Given the description of an element on the screen output the (x, y) to click on. 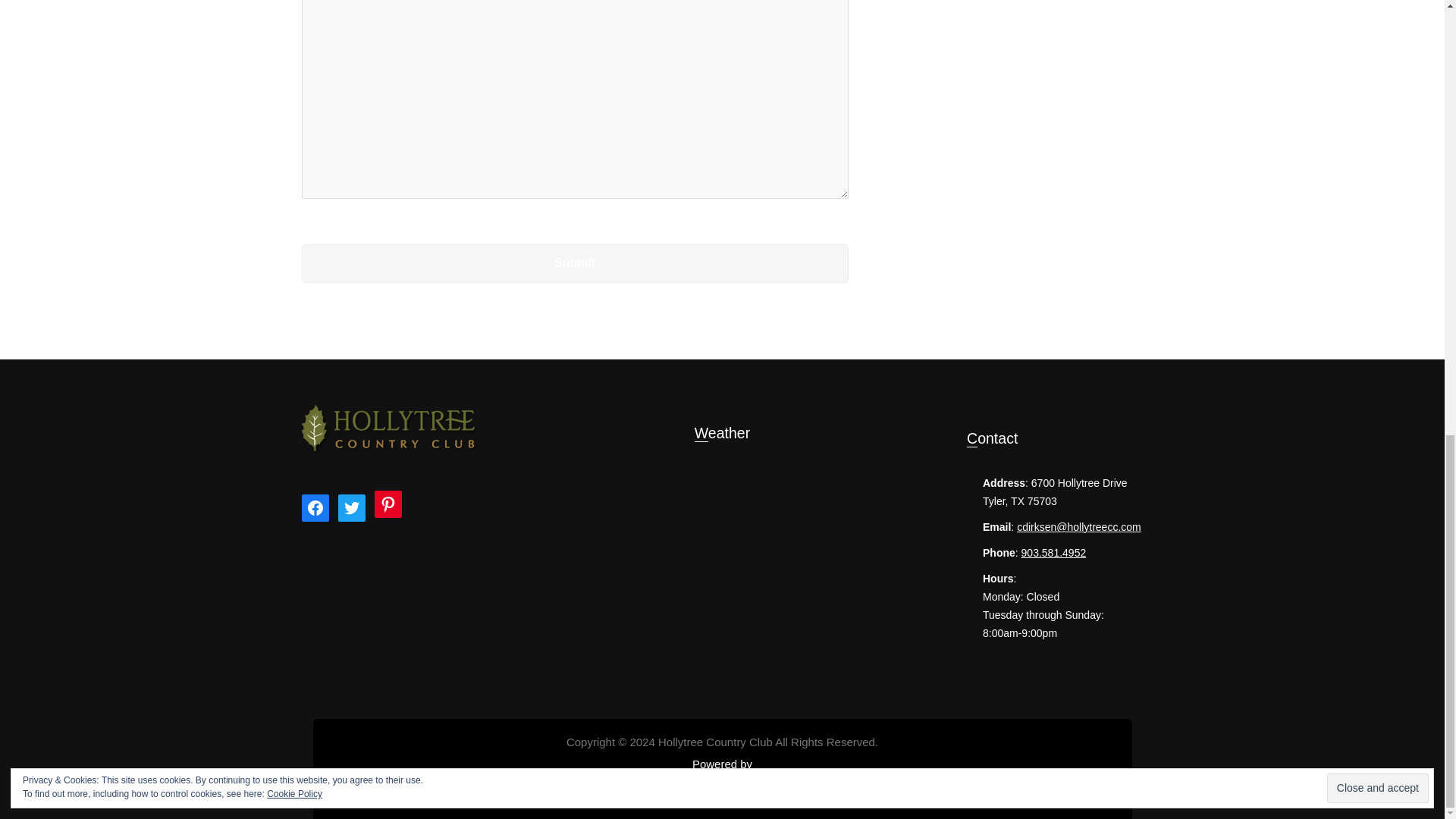
Weather Widget (721, 526)
